Given the description of an element on the screen output the (x, y) to click on. 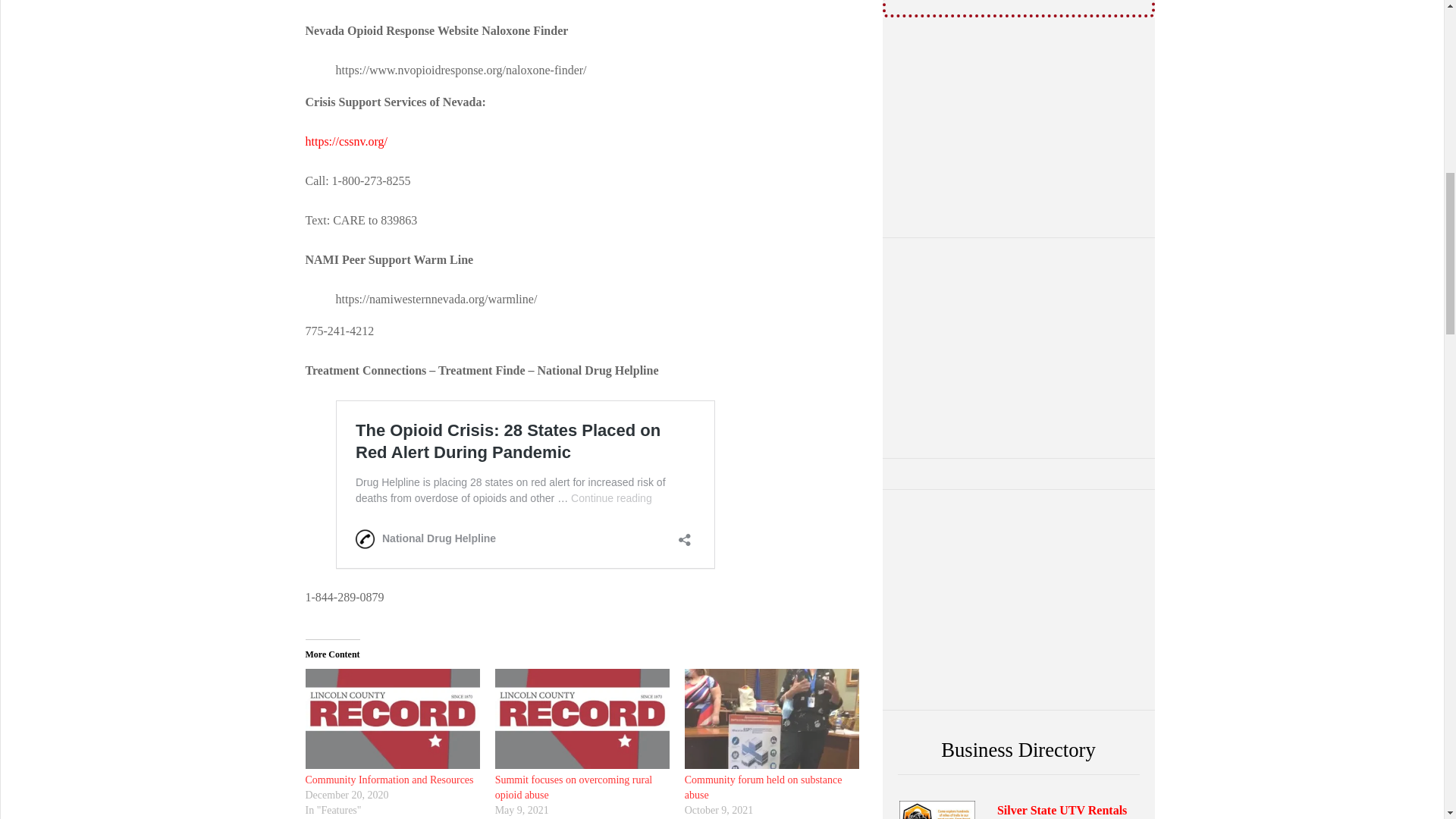
Community Information and Resources (388, 779)
Community Information and Resources (391, 719)
Community forum held on substance abuse (763, 786)
3rd party ad content (1018, 599)
Community forum held on substance abuse (763, 786)
Summit focuses on overcoming rural opioid abuse (582, 719)
Summit focuses on overcoming rural opioid abuse (573, 786)
3rd party ad content (1018, 348)
Summit focuses on overcoming rural opioid abuse (573, 786)
3rd party ad content (1018, 126)
Community Information and Resources (388, 779)
Community forum held on substance abuse (771, 719)
